Given the description of an element on the screen output the (x, y) to click on. 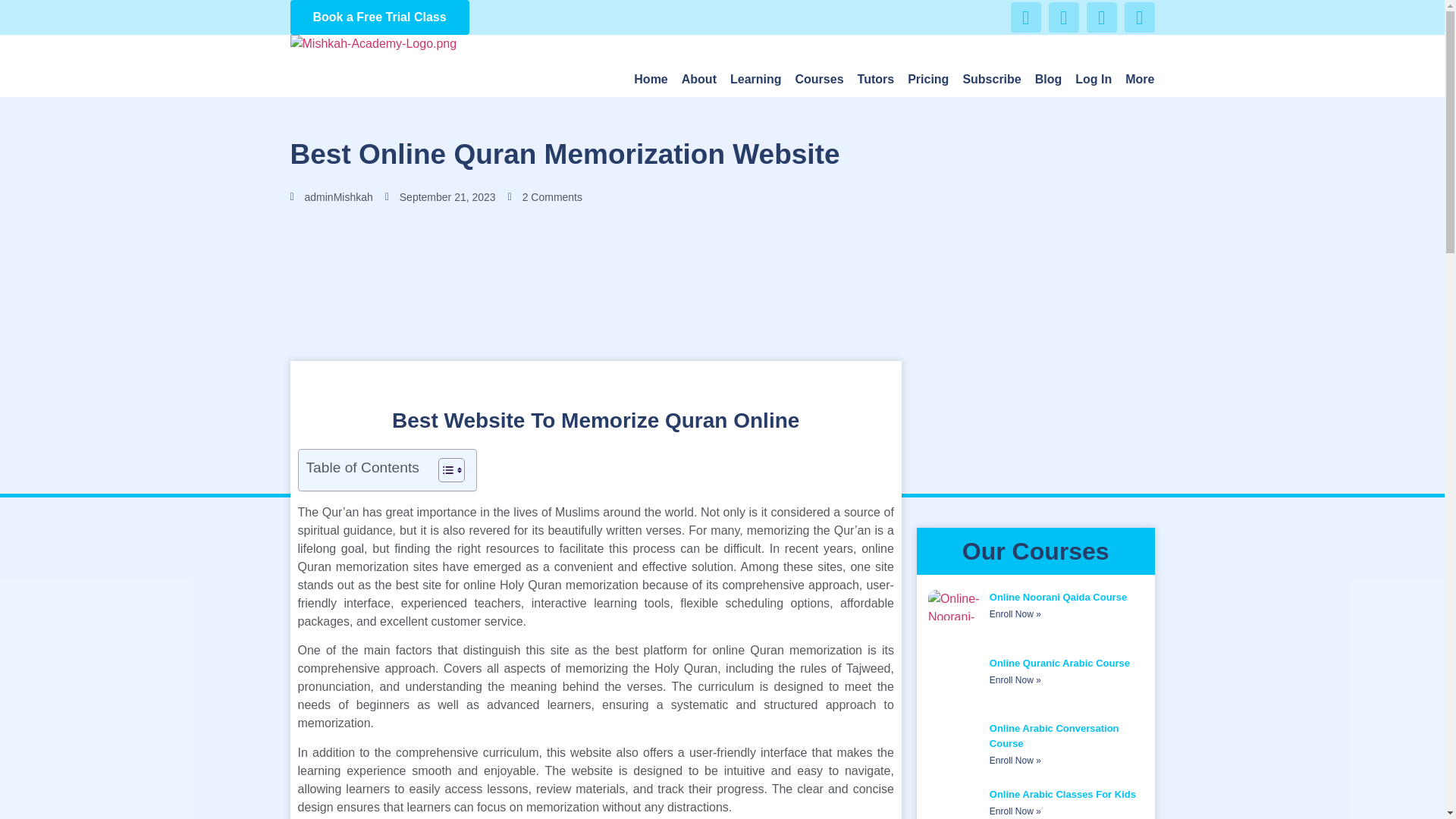
Book a Free Trial Class (378, 17)
Learning (755, 79)
About (698, 79)
Courses (819, 79)
Home (649, 79)
